Given the description of an element on the screen output the (x, y) to click on. 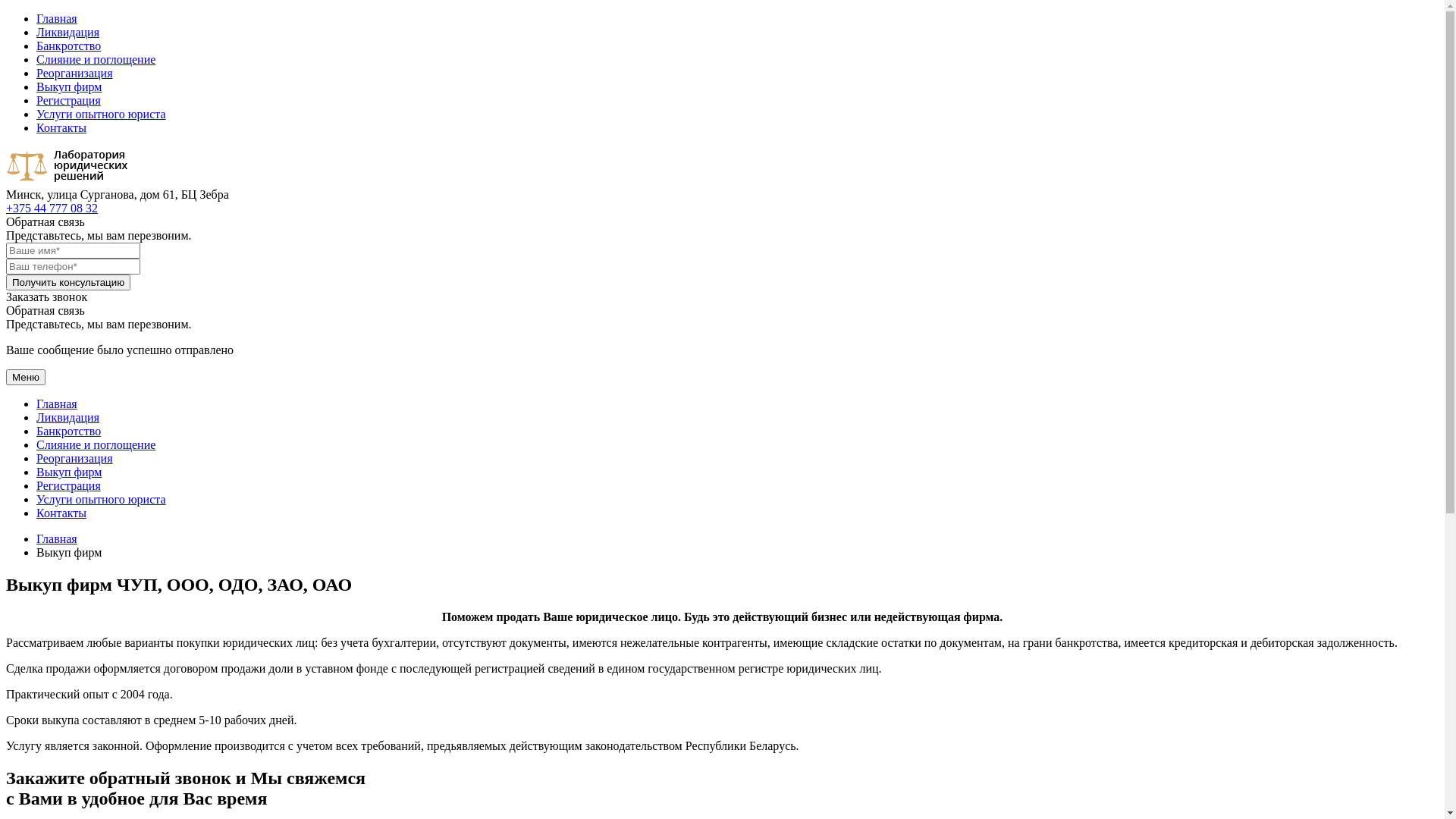
+375 44 777 08 32 Element type: text (51, 207)
